Given the description of an element on the screen output the (x, y) to click on. 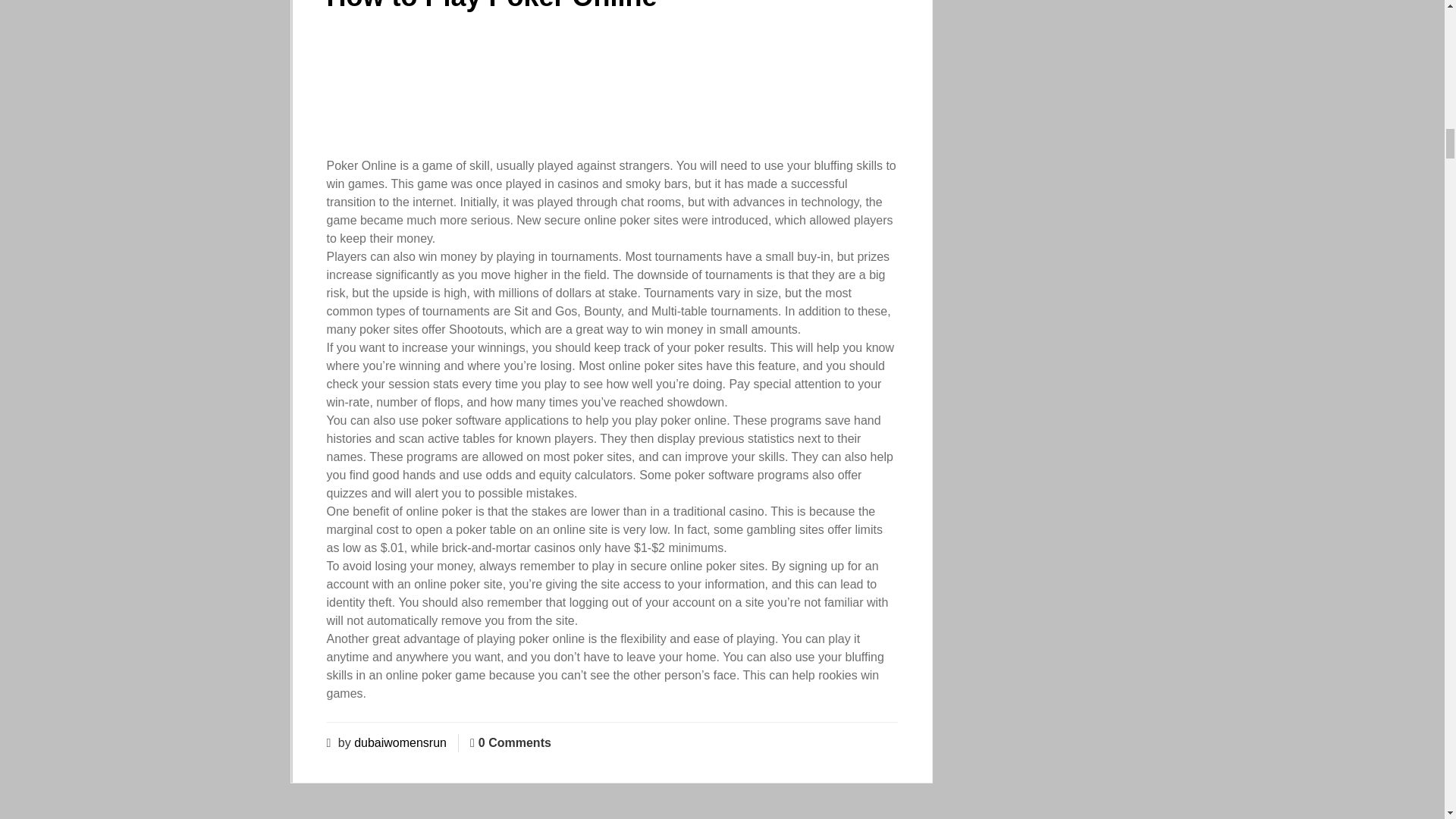
dubaiwomensrun (399, 742)
How to Play Poker Online (491, 6)
